Given the description of an element on the screen output the (x, y) to click on. 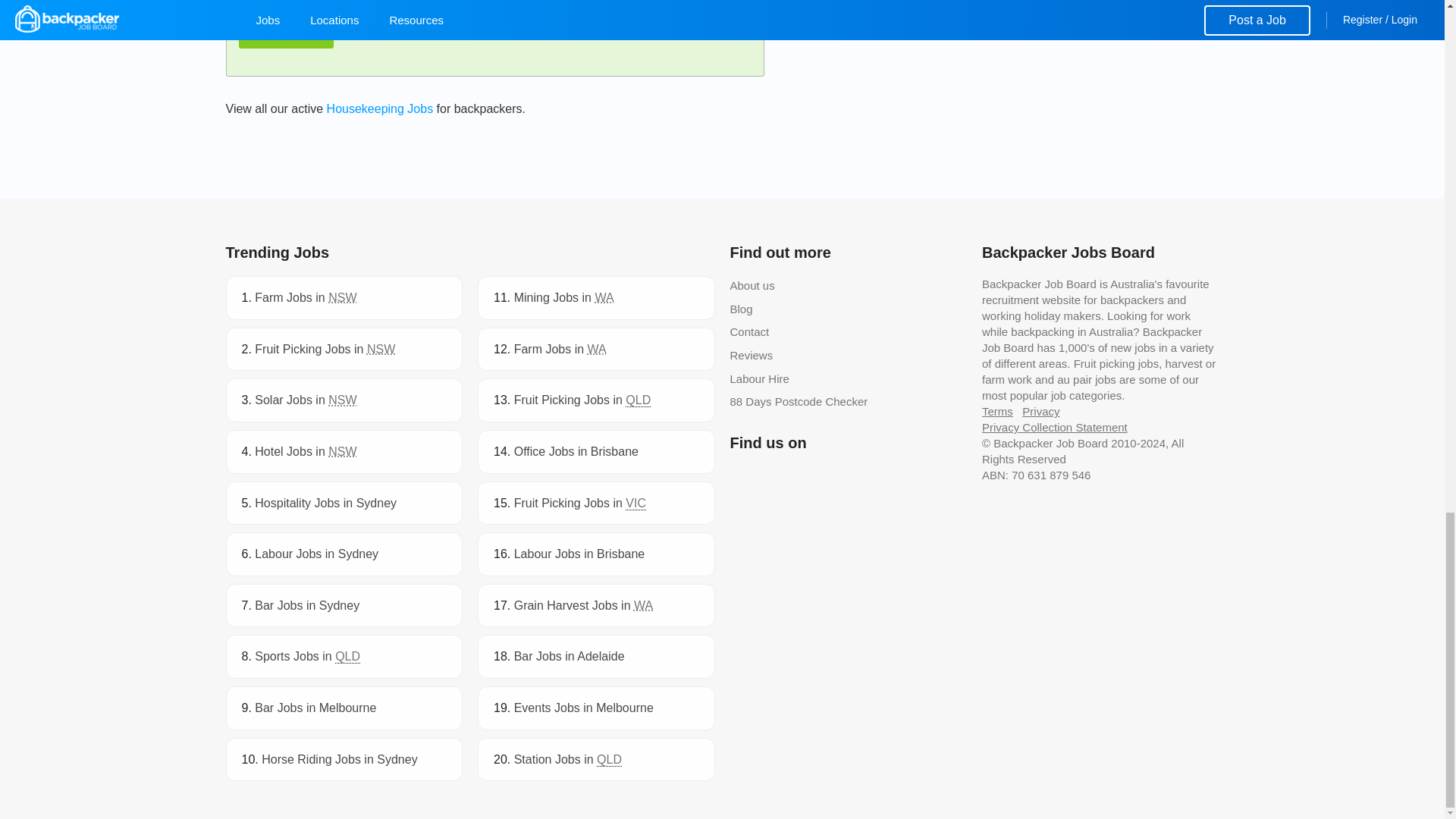
Farm Jobs in NSW (305, 297)
Forgot password? (382, 33)
New South Wales (342, 297)
Bar Jobs in Sydney (306, 604)
Fruit Picking Jobs in NSW (324, 349)
Hotel Jobs in NSW (305, 451)
Bar Jobs in Melbourne (314, 707)
Labour Jobs in Sydney (316, 553)
New South Wales (380, 349)
Mining Jobs in WA (563, 297)
